Given the description of an element on the screen output the (x, y) to click on. 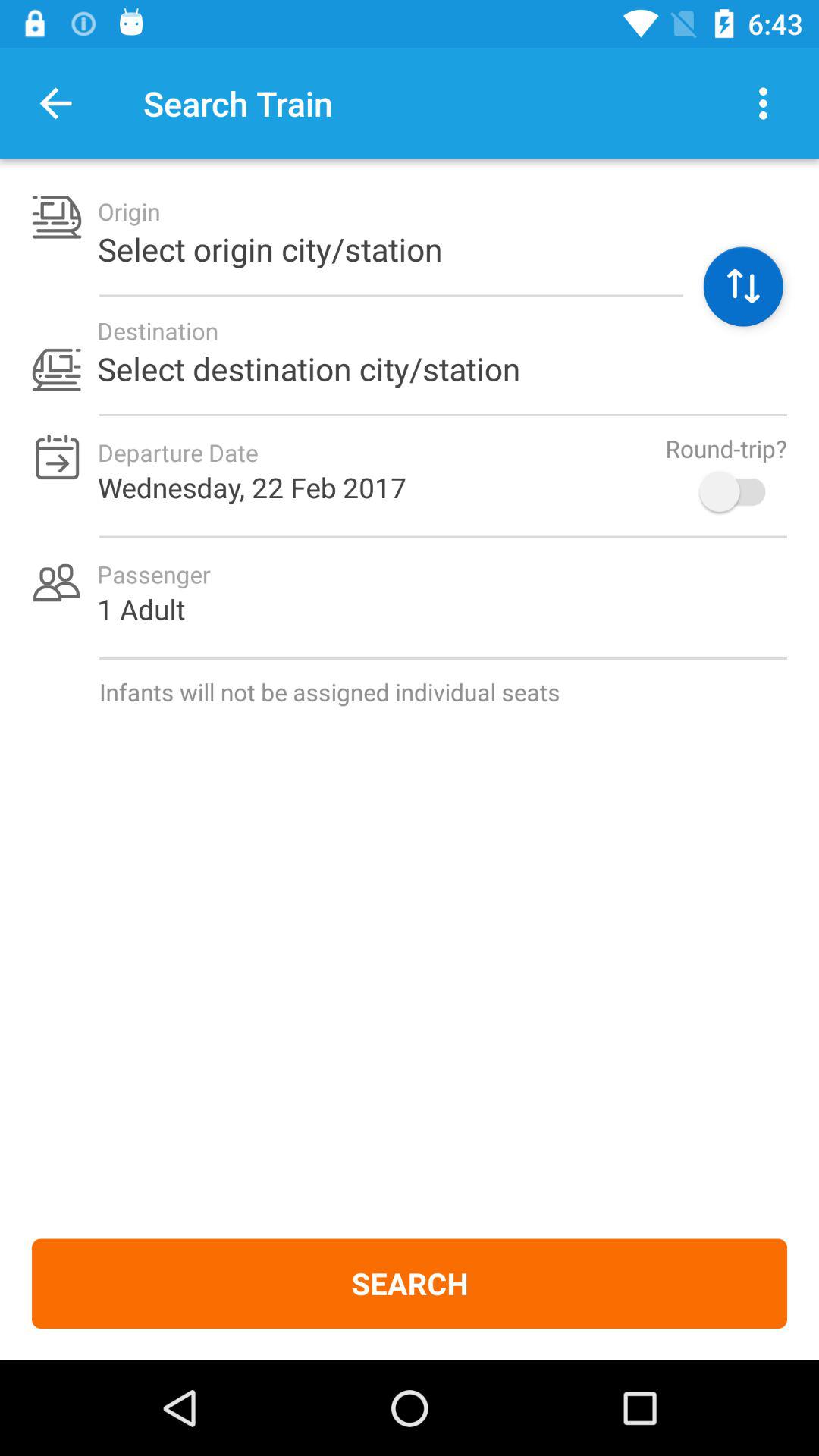
switch round trip option (739, 491)
